Given the description of an element on the screen output the (x, y) to click on. 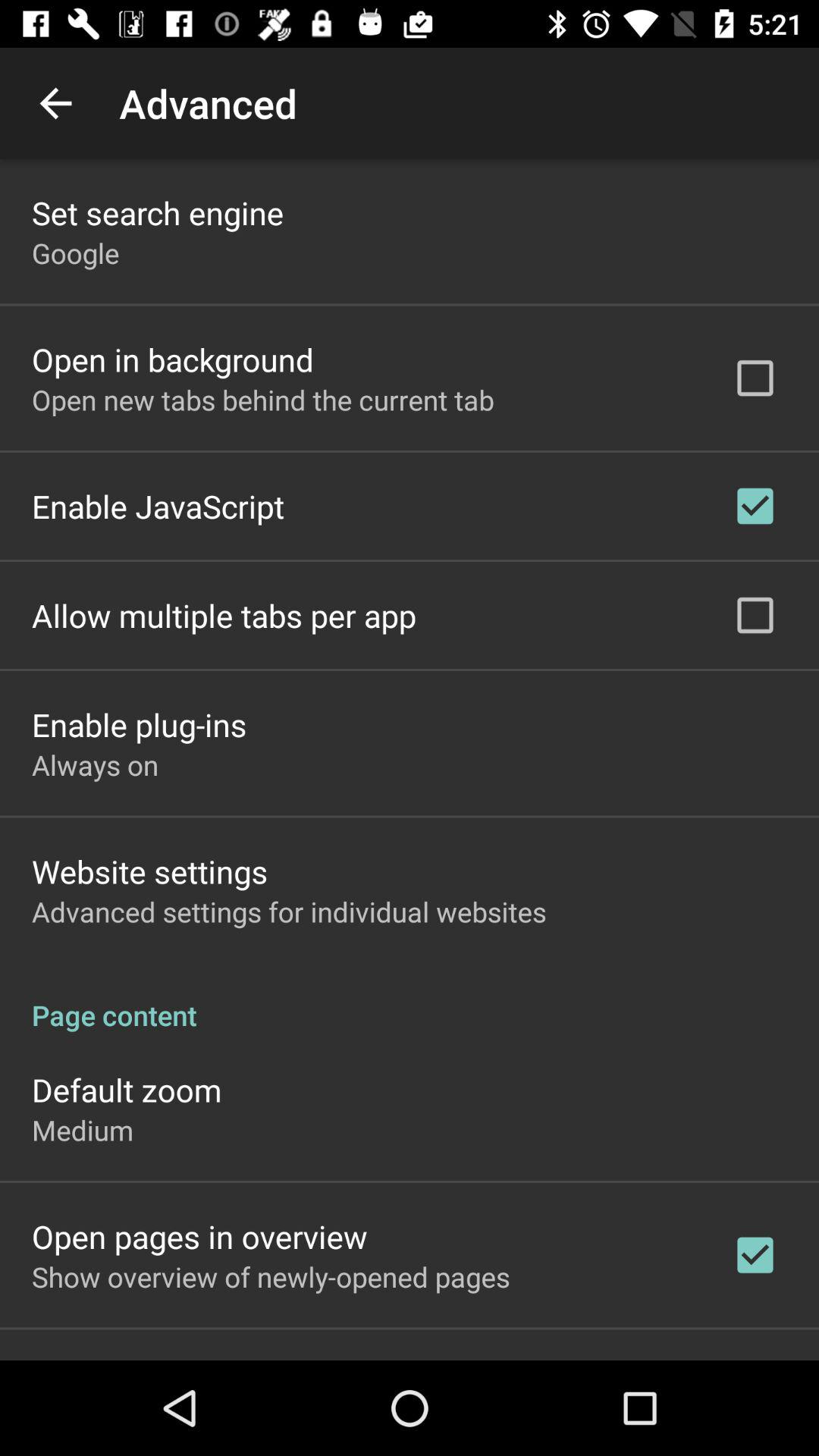
open the app below open pages in (270, 1276)
